Given the description of an element on the screen output the (x, y) to click on. 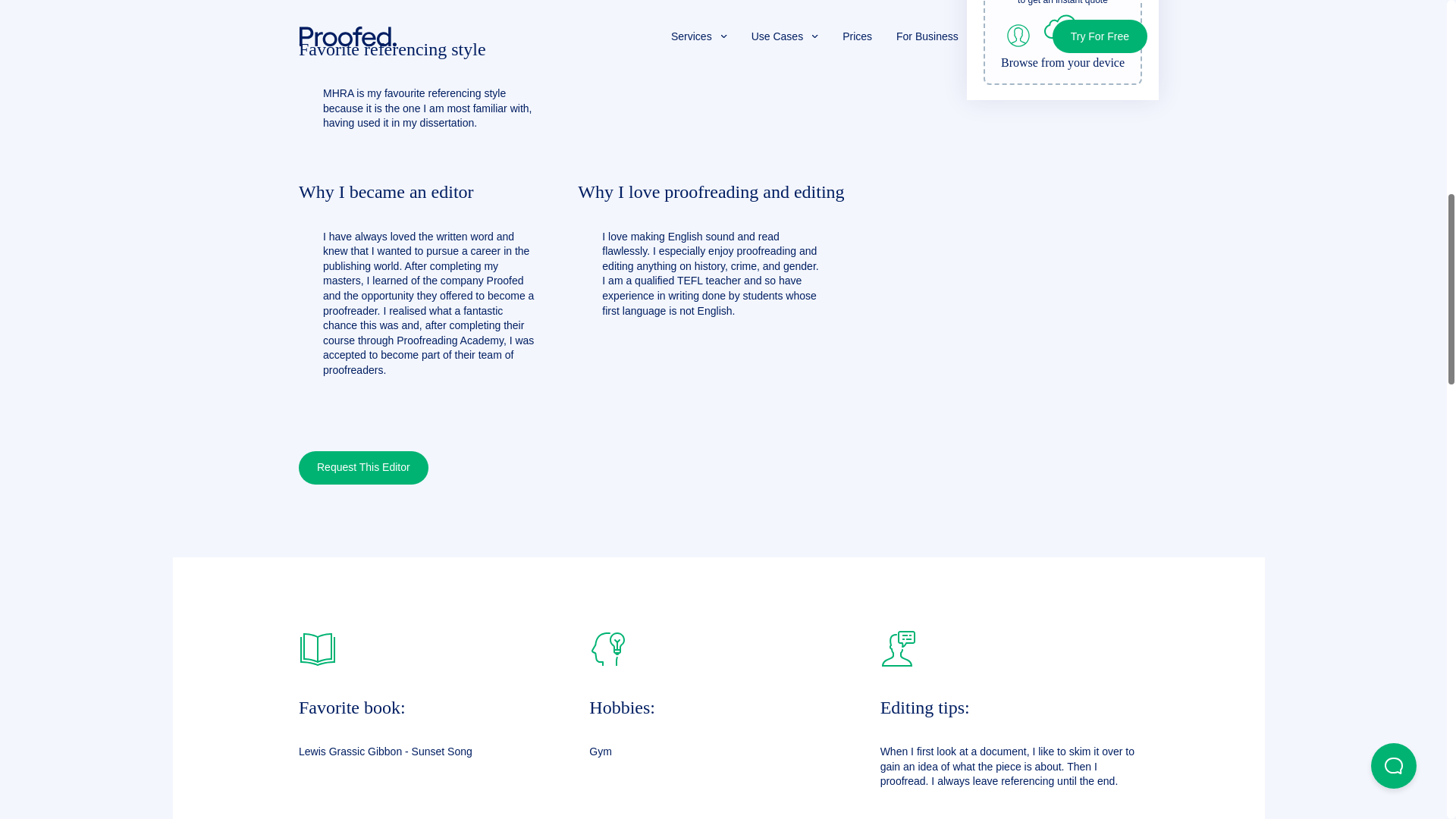
Request This Editor (363, 467)
